Given the description of an element on the screen output the (x, y) to click on. 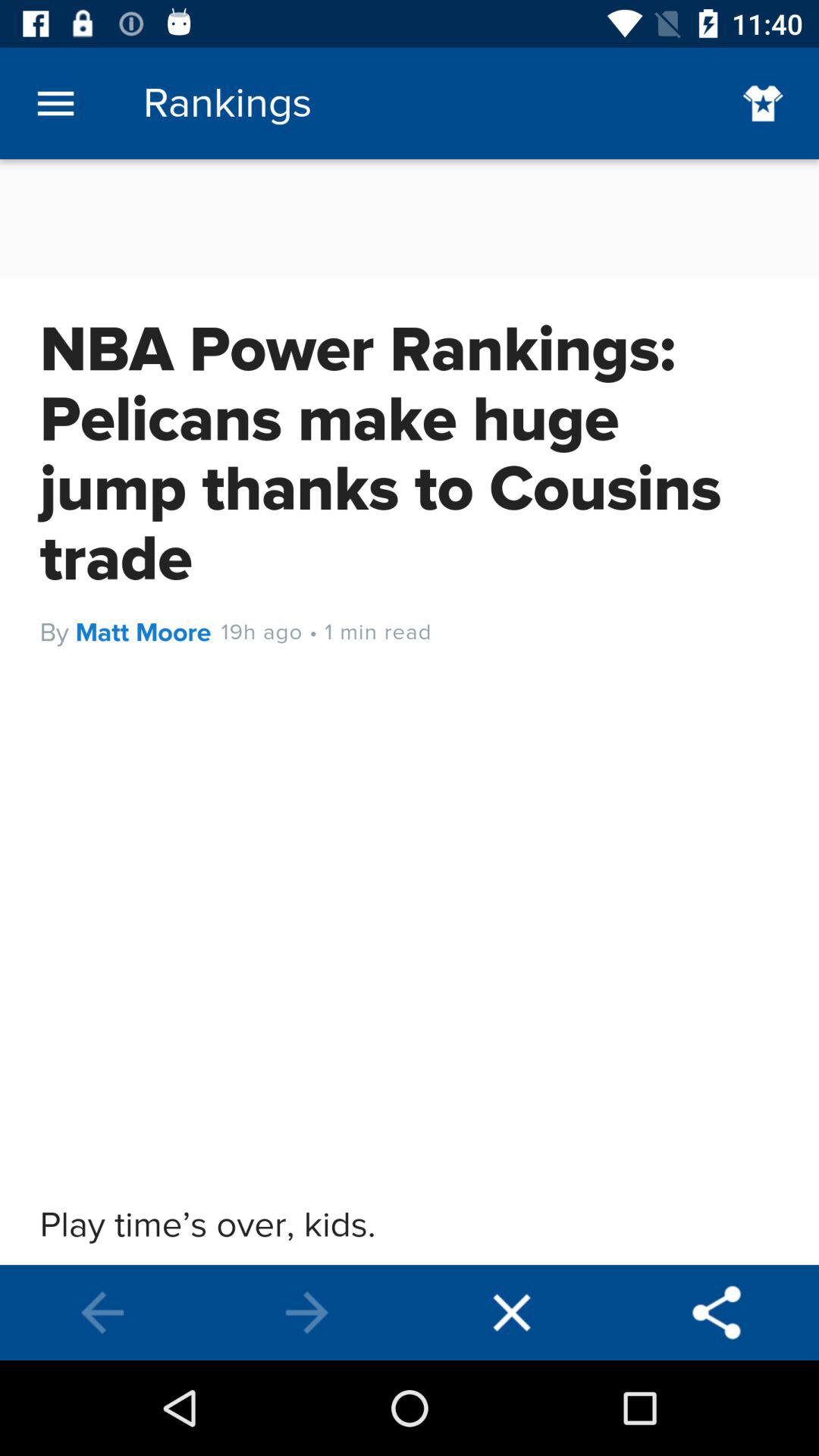
go to previous (102, 1312)
